Given the description of an element on the screen output the (x, y) to click on. 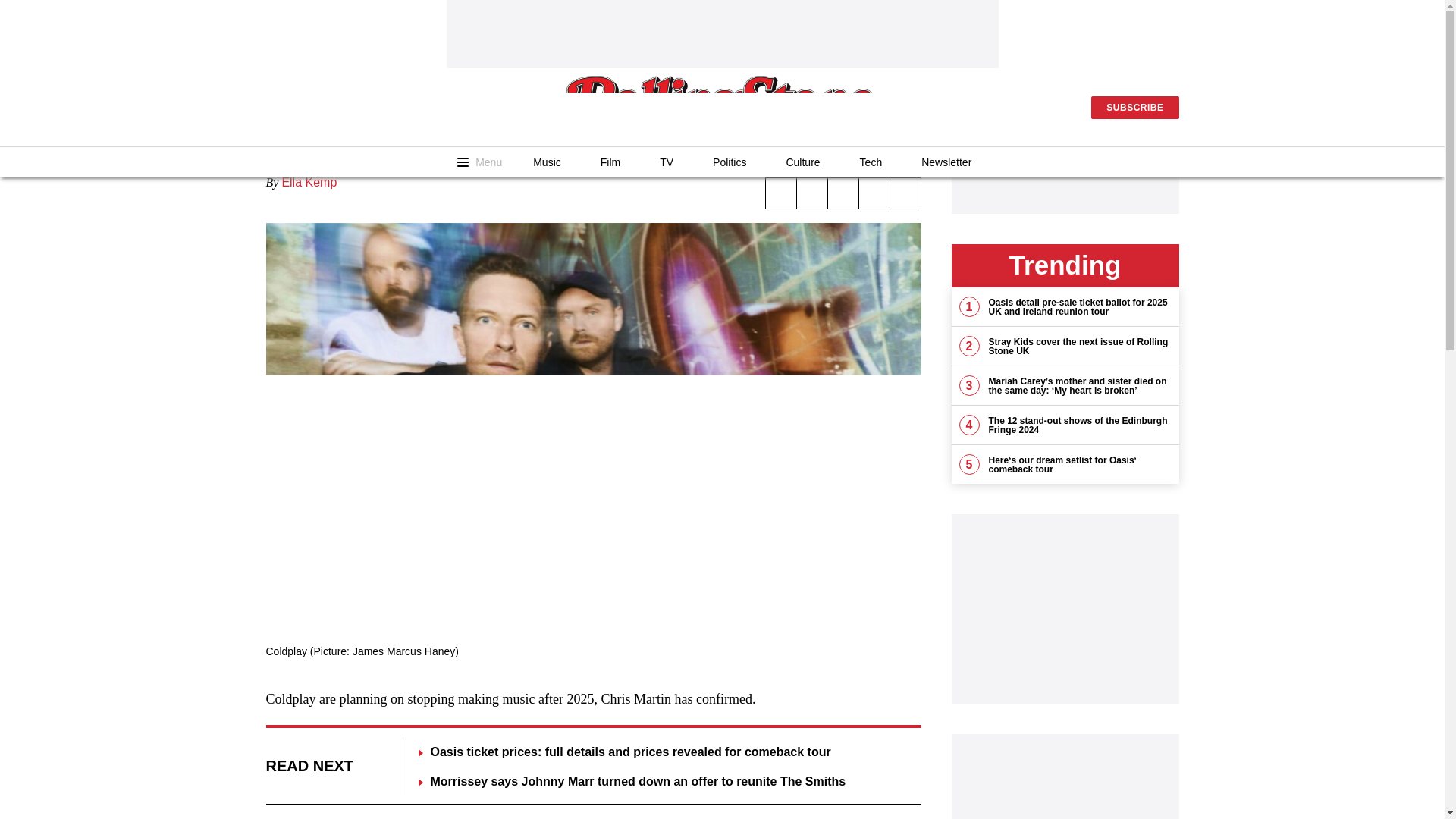
Culture (802, 162)
Film (610, 162)
SUBSCRIBE (1134, 107)
Politics (729, 162)
Newsletter (946, 162)
Music (546, 162)
Home (721, 107)
Tech (871, 162)
TV (666, 162)
